Given the description of an element on the screen output the (x, y) to click on. 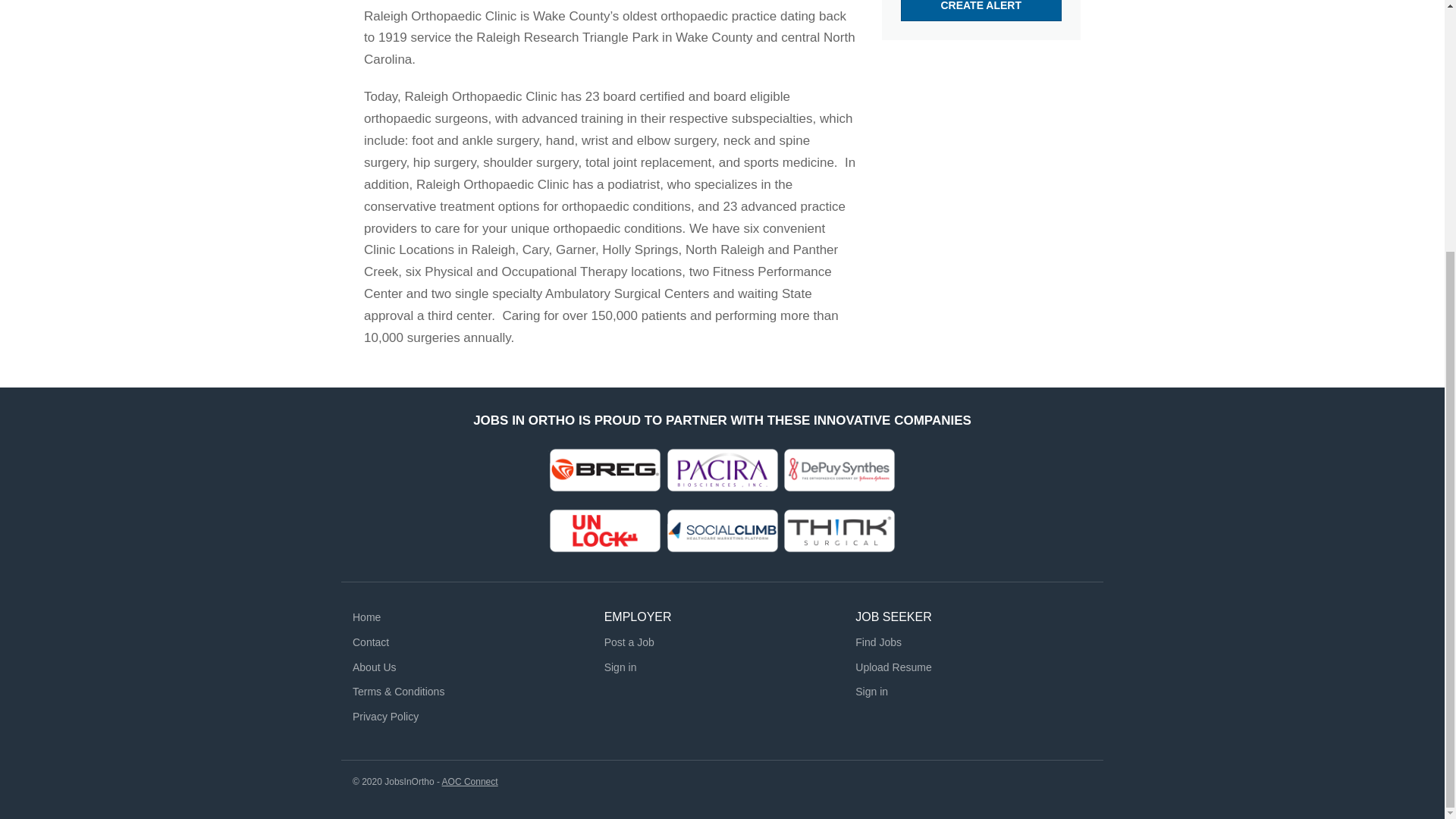
Create alert (981, 10)
Contact (370, 642)
Home (366, 616)
Create alert (981, 10)
About Us (374, 666)
